Given the description of an element on the screen output the (x, y) to click on. 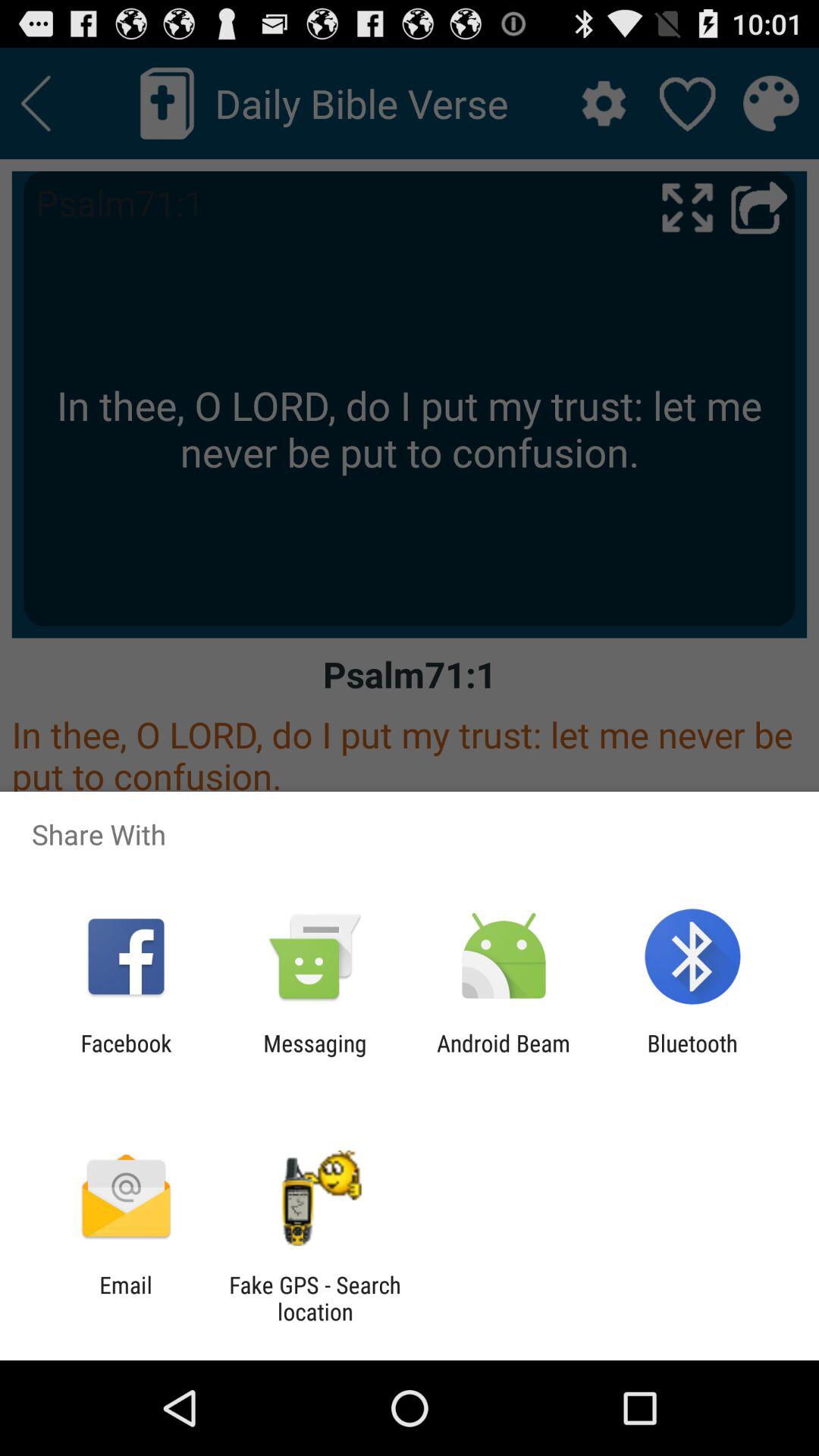
launch facebook item (125, 1056)
